Given the description of an element on the screen output the (x, y) to click on. 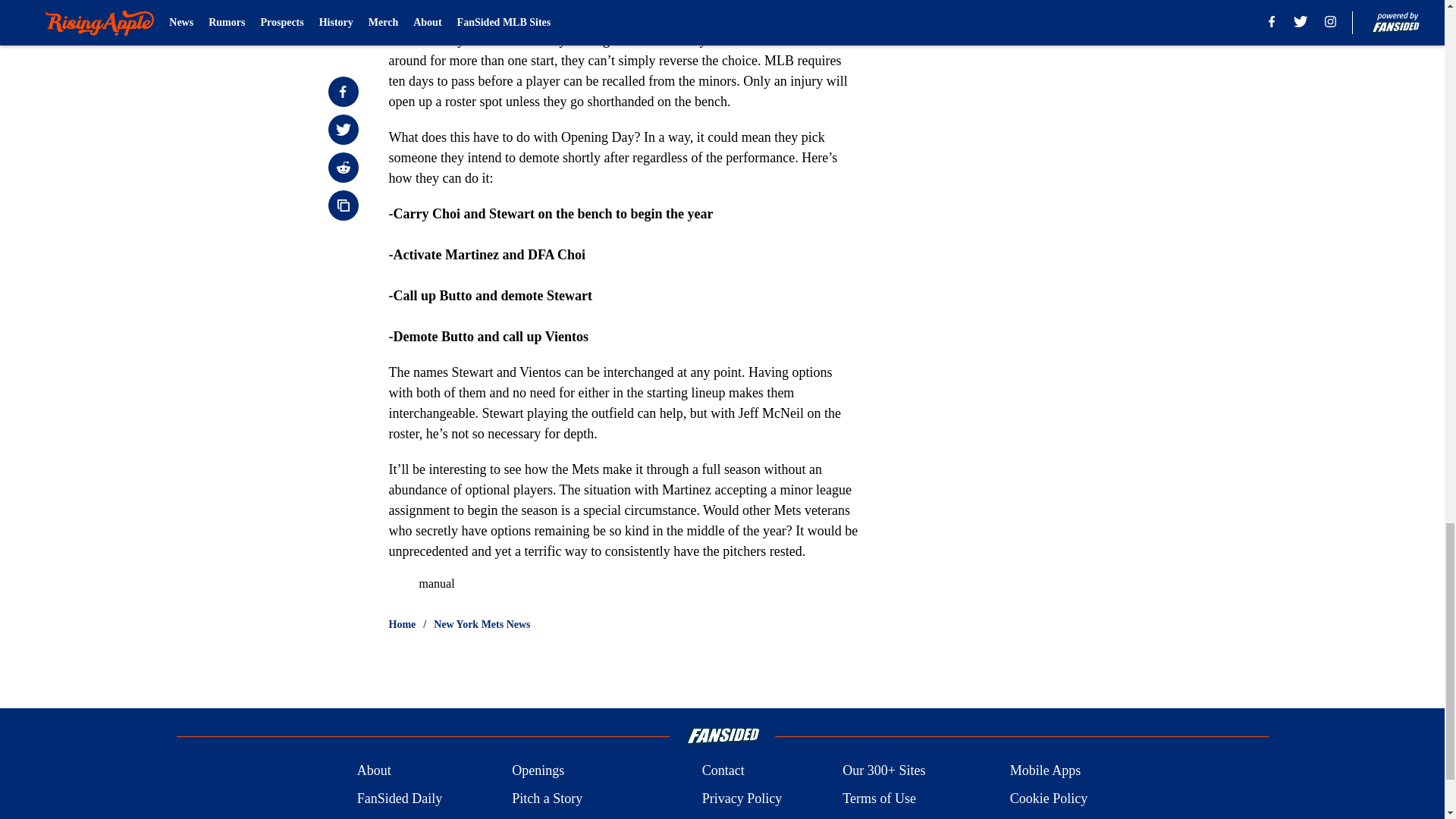
Mobile Apps (1045, 770)
Pitch a Story (547, 798)
Terms of Use (879, 798)
Home (401, 624)
About (373, 770)
New York Mets News (481, 624)
Legal Disclaimer (403, 817)
FanSided Daily (399, 798)
Contact (722, 770)
Cookie Policy (1048, 798)
Openings (538, 770)
Accessibility Statement (576, 817)
Cookie Preferences (896, 817)
Privacy Policy (742, 798)
A-Z Index (729, 817)
